Given the description of an element on the screen output the (x, y) to click on. 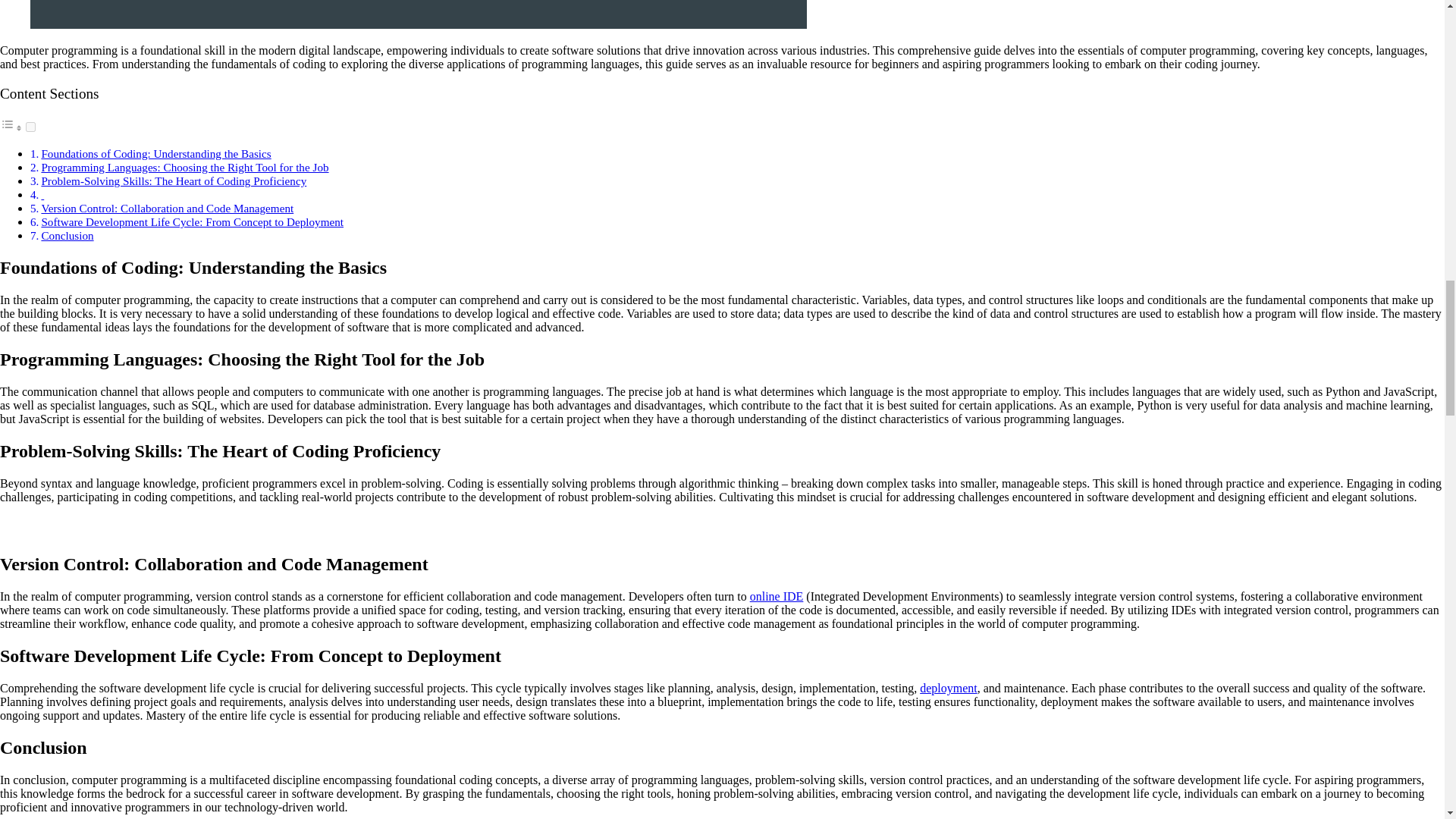
Problem-Solving Skills: The Heart of Coding Proficiency (172, 180)
Version Control: Collaboration and Code Management (167, 207)
Conclusion (66, 235)
Programming Languages: Choosing the Right Tool for the Job (184, 166)
Foundations of Coding: Understanding the Basics (155, 153)
on (30, 126)
Conclusion (66, 235)
Version Control: Collaboration and Code Management (167, 207)
Problem-Solving Skills: The Heart of Coding Proficiency (172, 180)
Software Development Life Cycle: From Concept to Deployment (191, 221)
Programming Languages: Choosing the Right Tool for the Job (184, 166)
Foundations of Coding: Understanding the Basics (155, 153)
online IDE (776, 595)
deployment (948, 687)
Software Development Life Cycle: From Concept to Deployment (191, 221)
